Given the description of an element on the screen output the (x, y) to click on. 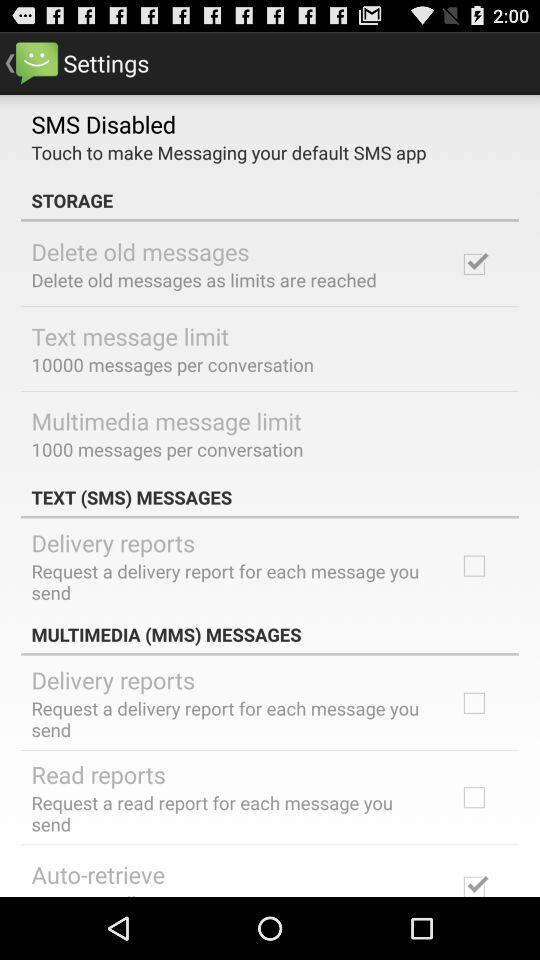
press the storage icon (270, 200)
